Given the description of an element on the screen output the (x, y) to click on. 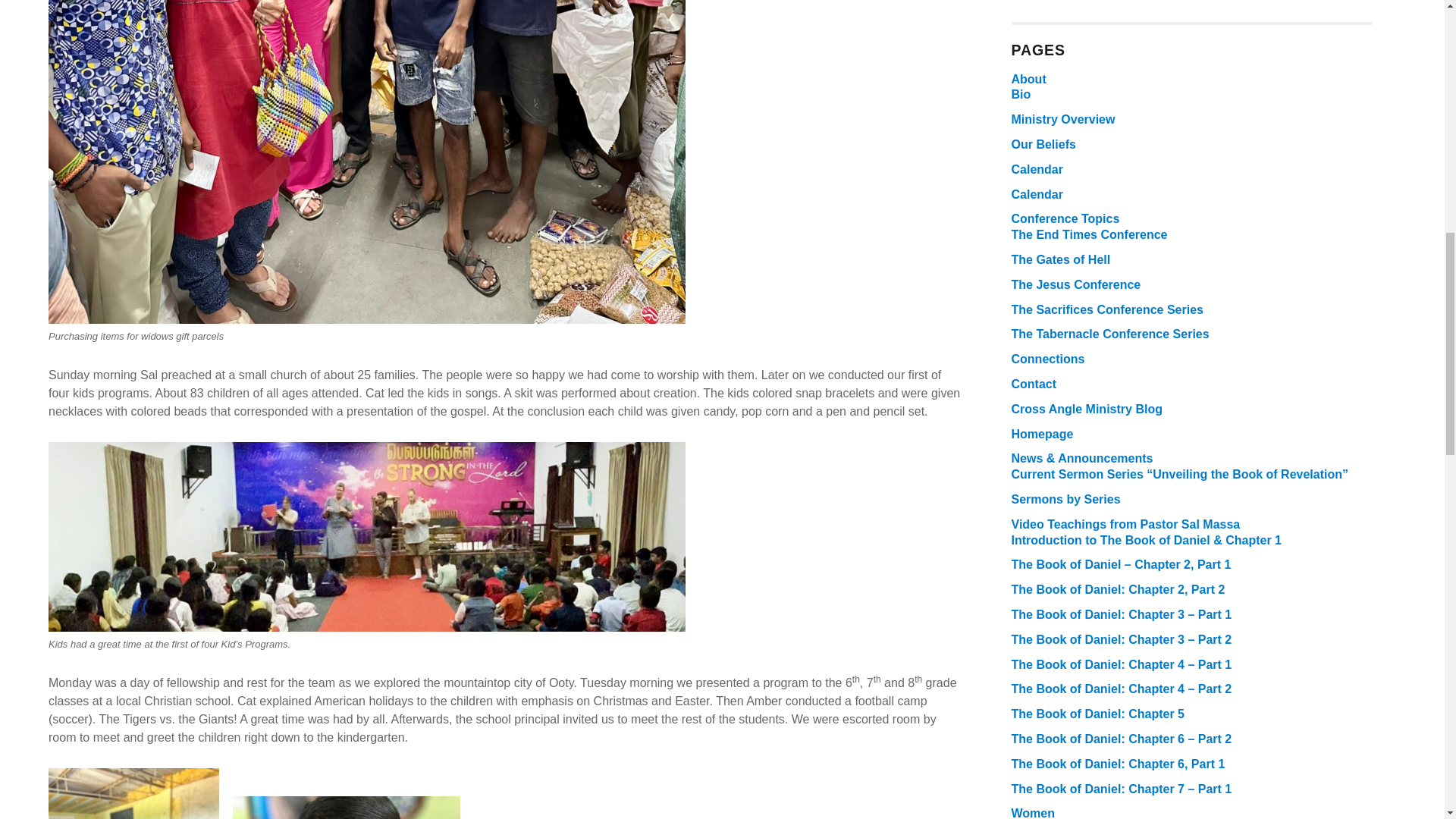
Bio (1020, 93)
Ministry Overview (1063, 119)
About (1028, 78)
Conference Topics (1065, 218)
Calendar (1036, 169)
Our Beliefs (1043, 144)
Calendar (1036, 194)
